Given the description of an element on the screen output the (x, y) to click on. 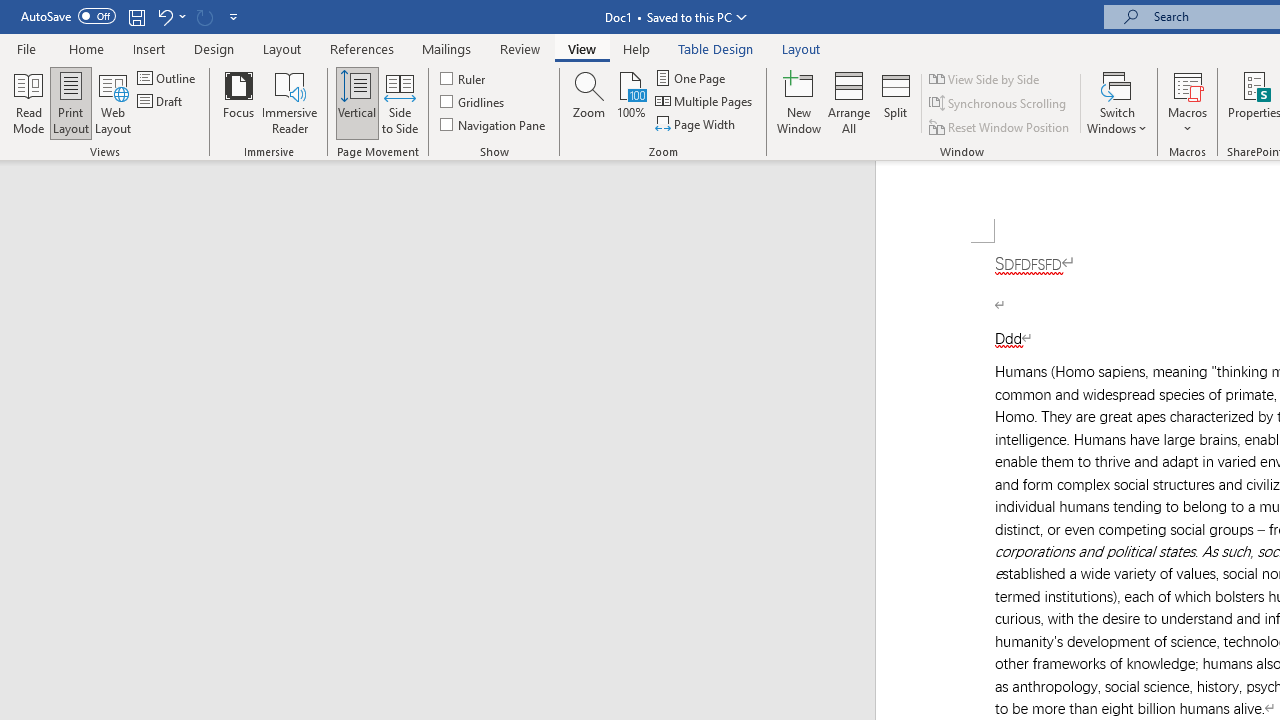
One Page (691, 78)
Synchronous Scrolling (998, 103)
Undo Apply Quick Style Set (164, 15)
Split (895, 102)
Arrange All (848, 102)
Macros (1187, 102)
100% (630, 102)
Draft (161, 101)
Undo Apply Quick Style Set (170, 15)
